Given the description of an element on the screen output the (x, y) to click on. 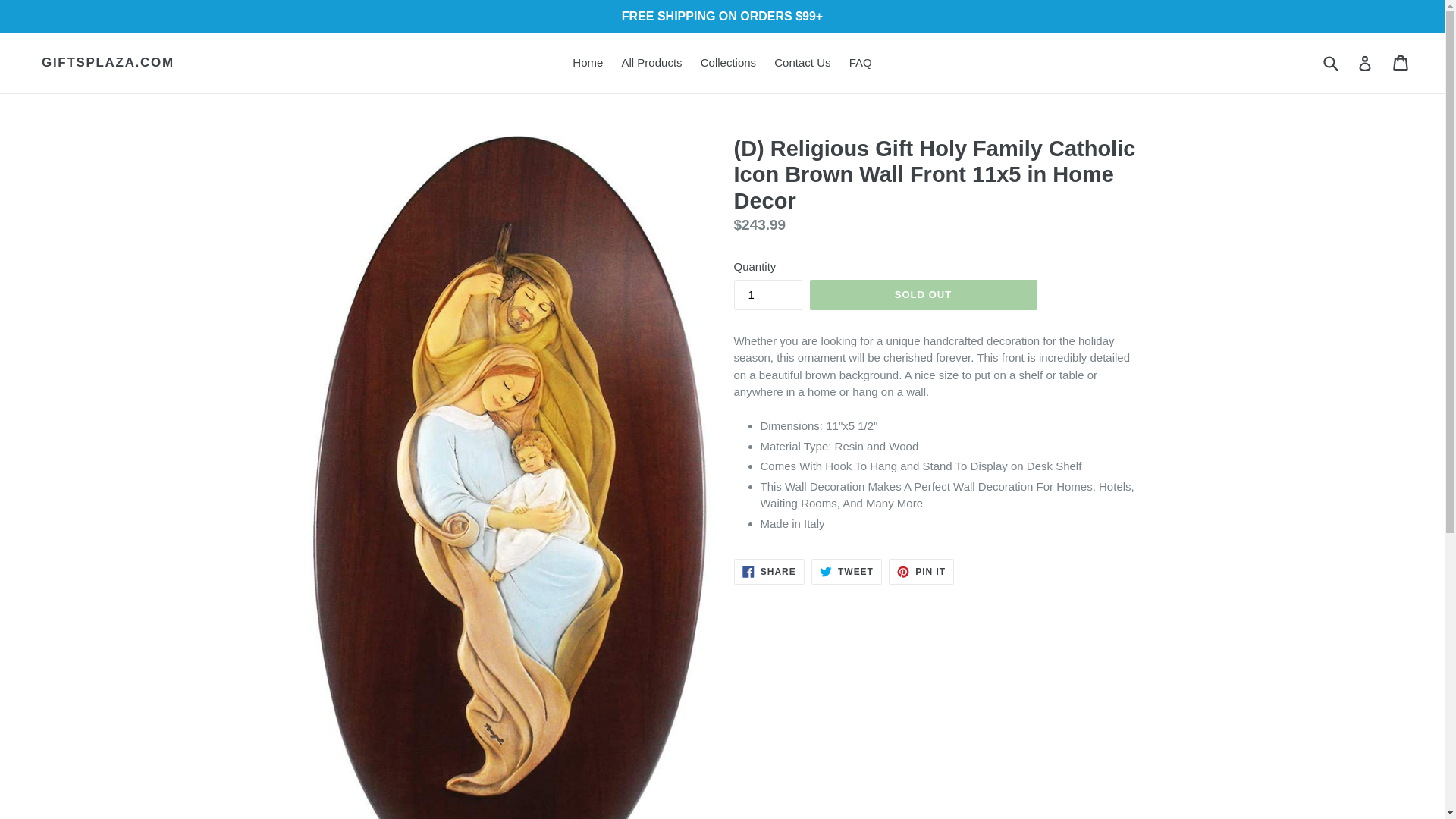
FAQ (860, 63)
1 (767, 295)
Home (587, 63)
All Products (652, 63)
Tweet on Twitter (769, 571)
SOLD OUT (846, 571)
GIFTSPLAZA.COM (846, 571)
Share on Facebook (922, 295)
